Given the description of an element on the screen output the (x, y) to click on. 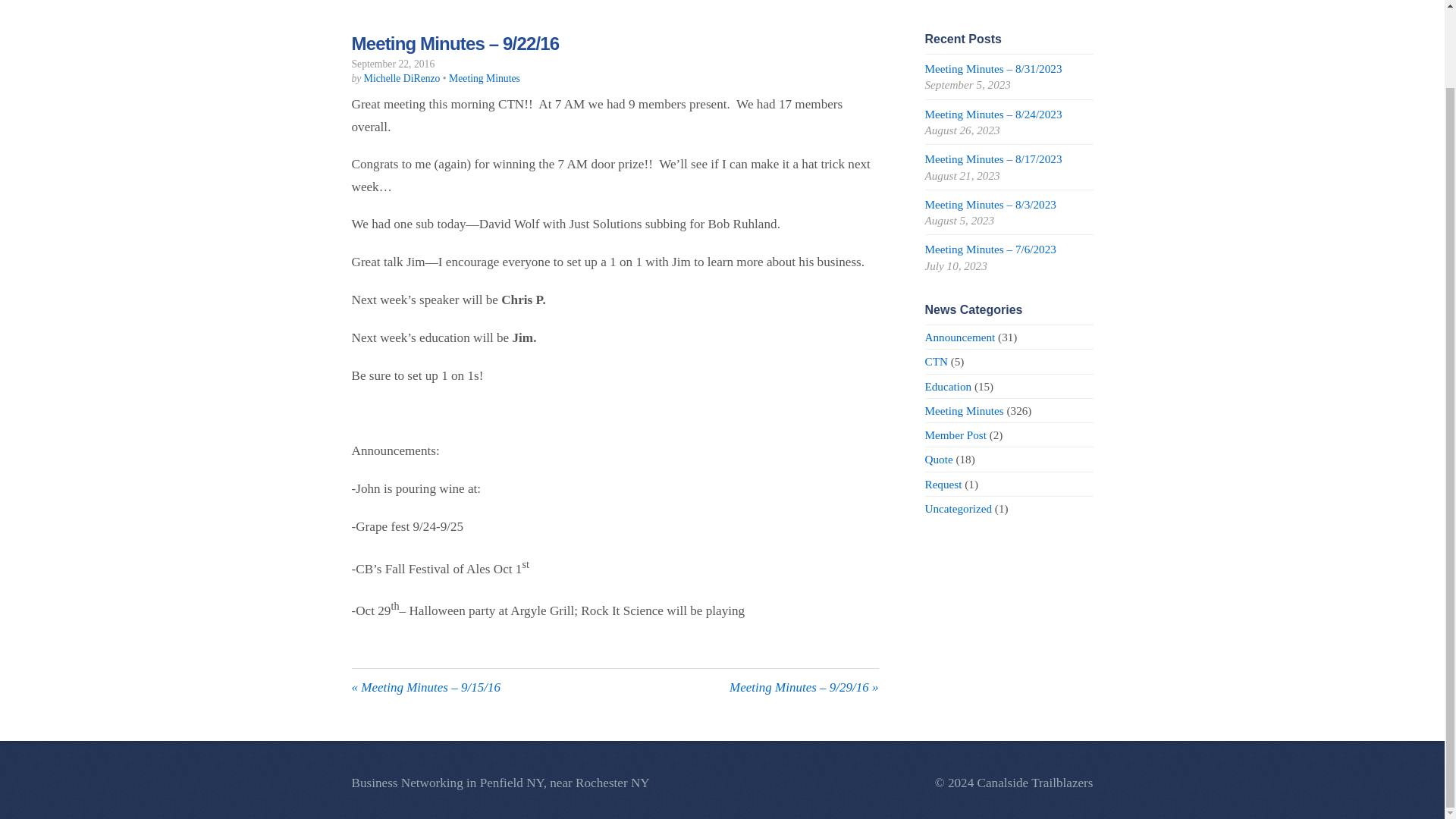
Announcement (959, 336)
CTN (935, 360)
Quote (938, 459)
Meeting Minutes (483, 78)
Uncategorized (958, 508)
Member Post (955, 434)
Education (948, 386)
Request (943, 483)
Michelle DiRenzo (402, 78)
Meeting Minutes (964, 410)
